Given the description of an element on the screen output the (x, y) to click on. 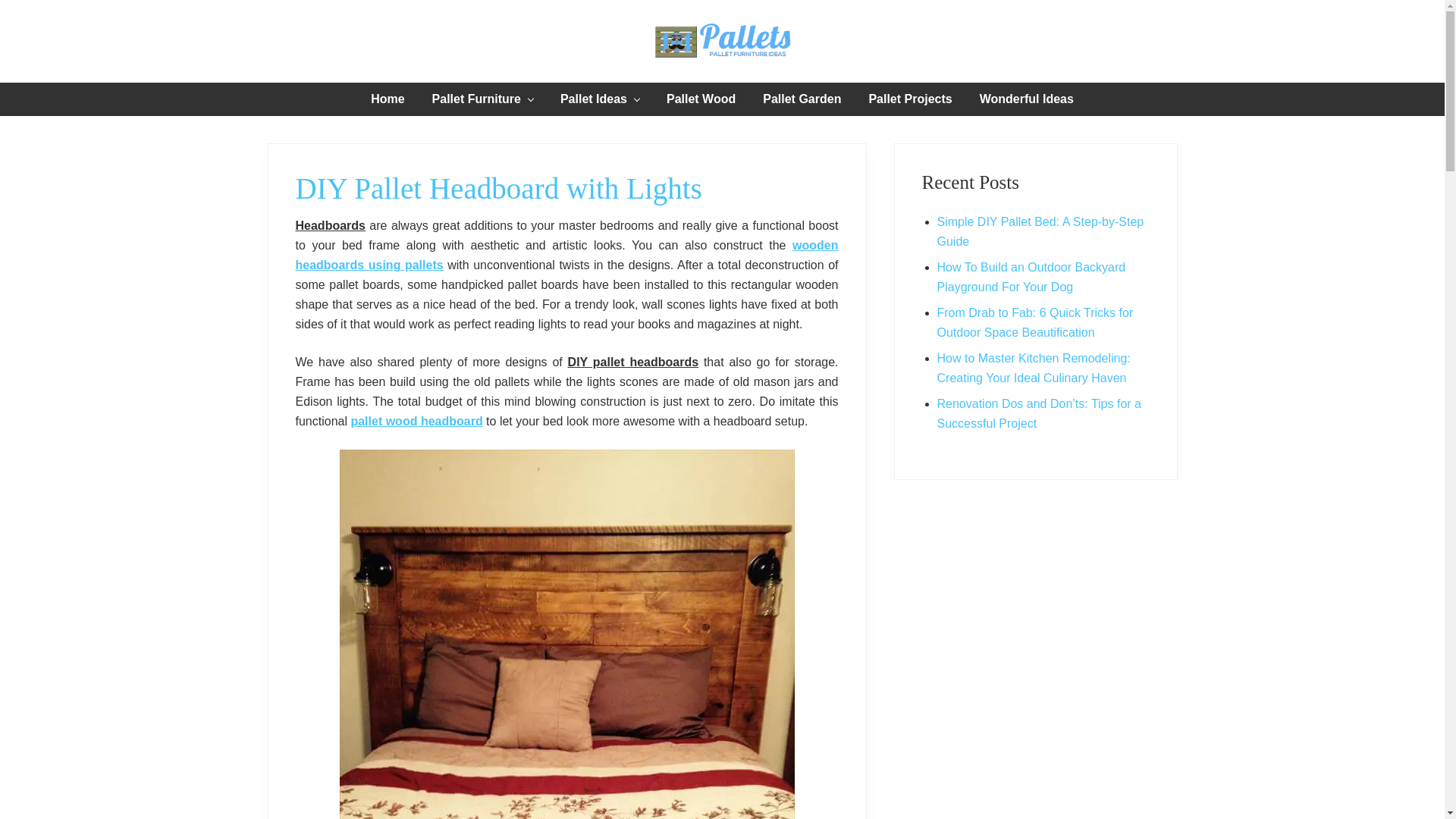
Pallet Furniture (483, 99)
Home (386, 99)
DIY Pallet Headboard with Light Fixture (415, 420)
27 DIY Pallet Headboard Ideas (566, 255)
